Given the description of an element on the screen output the (x, y) to click on. 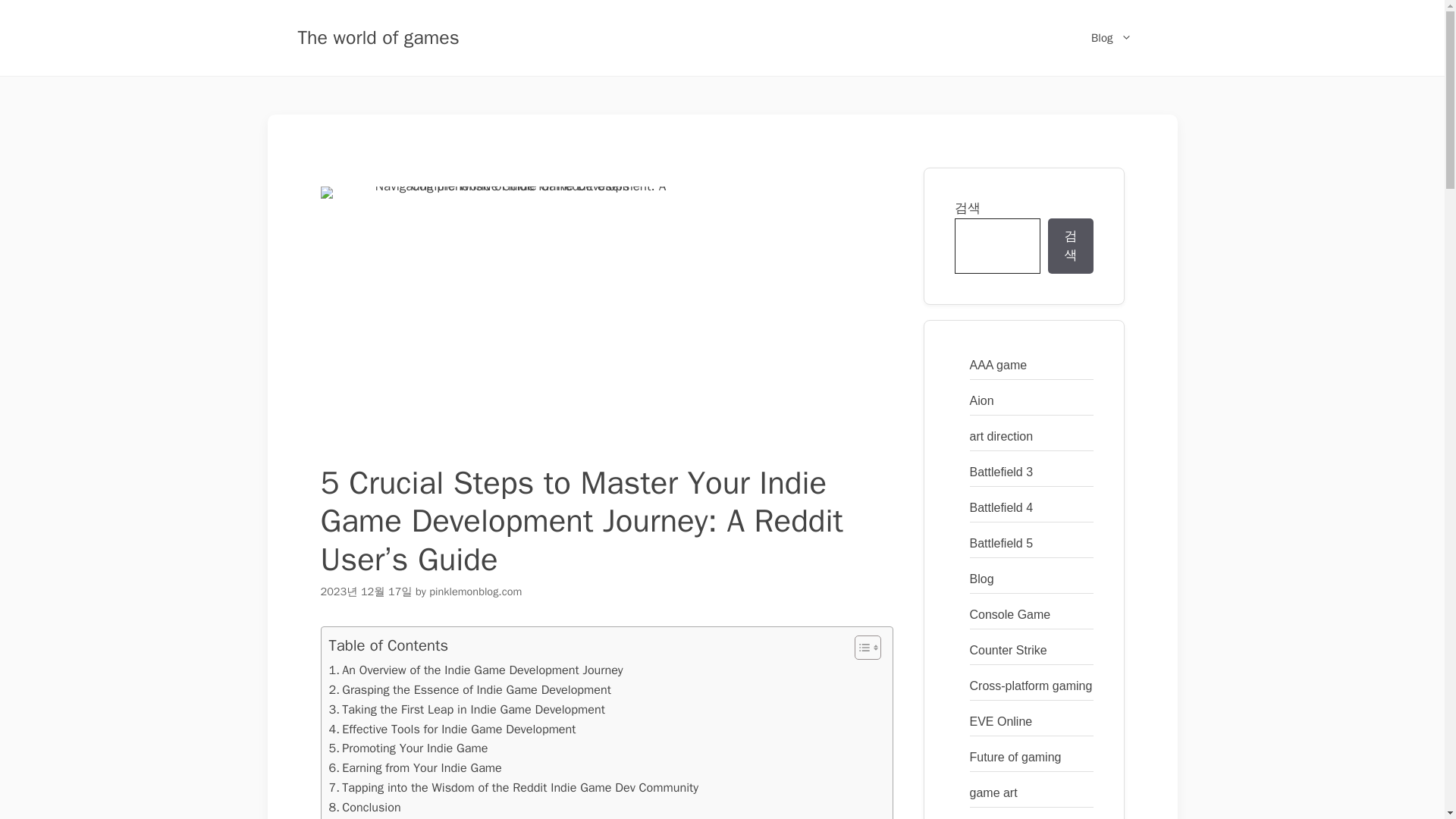
Grasping the Essence of Indie Game Development (470, 690)
Taking the First Leap in Indie Game Development (467, 709)
Effective Tools for Indie Game Development (452, 729)
Counter Strike (1007, 649)
Battlefield 4 (1000, 506)
An Overview of the Indie Game Development Journey (476, 670)
AAA game (997, 364)
Battlefield 5 (1000, 543)
Earning from Your Indie Game (415, 768)
Grasping the Essence of Indie Game Development (470, 690)
pinklemonblog.com (475, 591)
Conclusion (365, 807)
art direction (1000, 435)
